Given the description of an element on the screen output the (x, y) to click on. 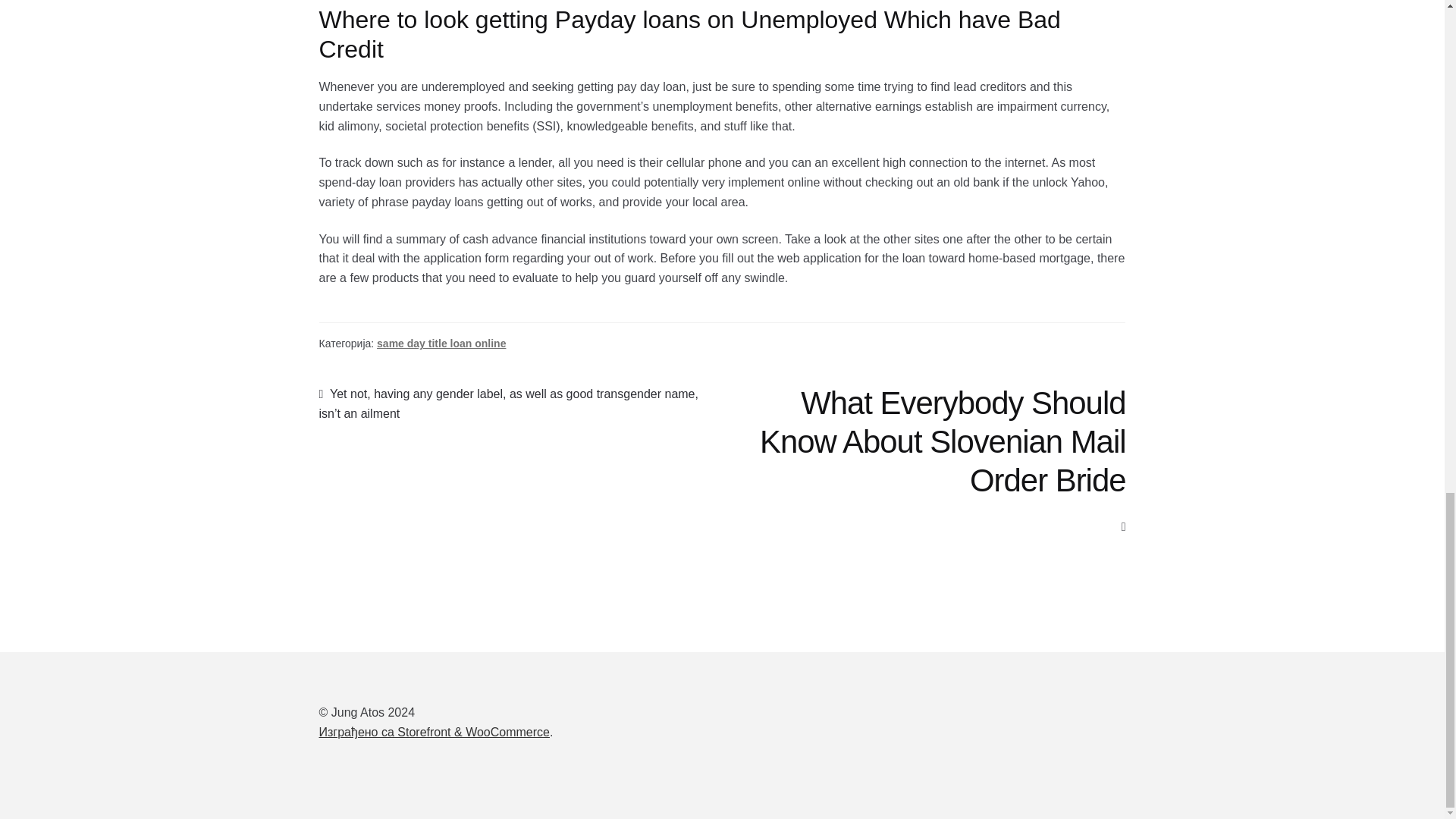
same day title loan online (441, 343)
